Given the description of an element on the screen output the (x, y) to click on. 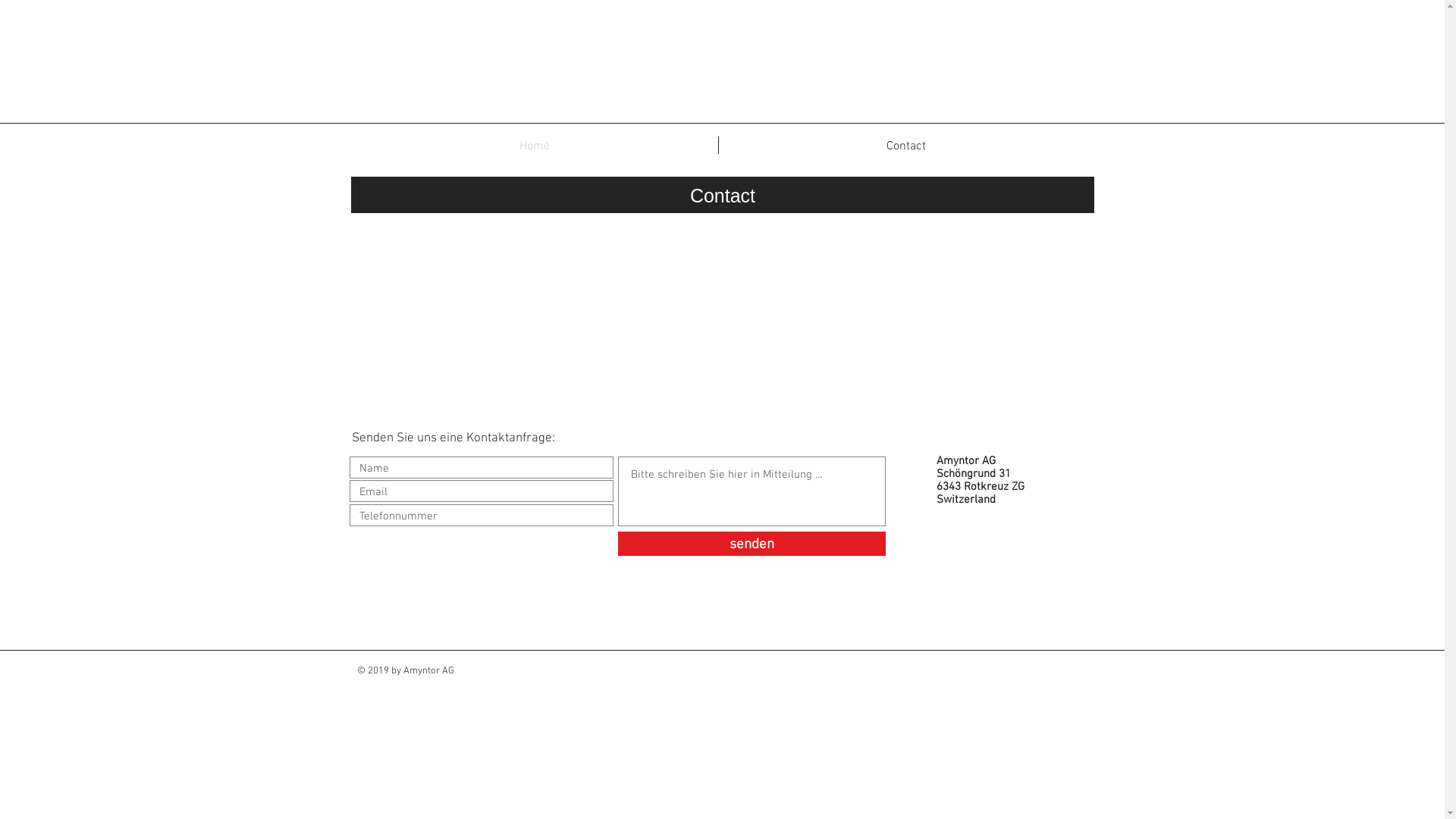
Home Element type: text (533, 144)
senden Element type: text (750, 543)
Contact Element type: text (906, 144)
